Given the description of an element on the screen output the (x, y) to click on. 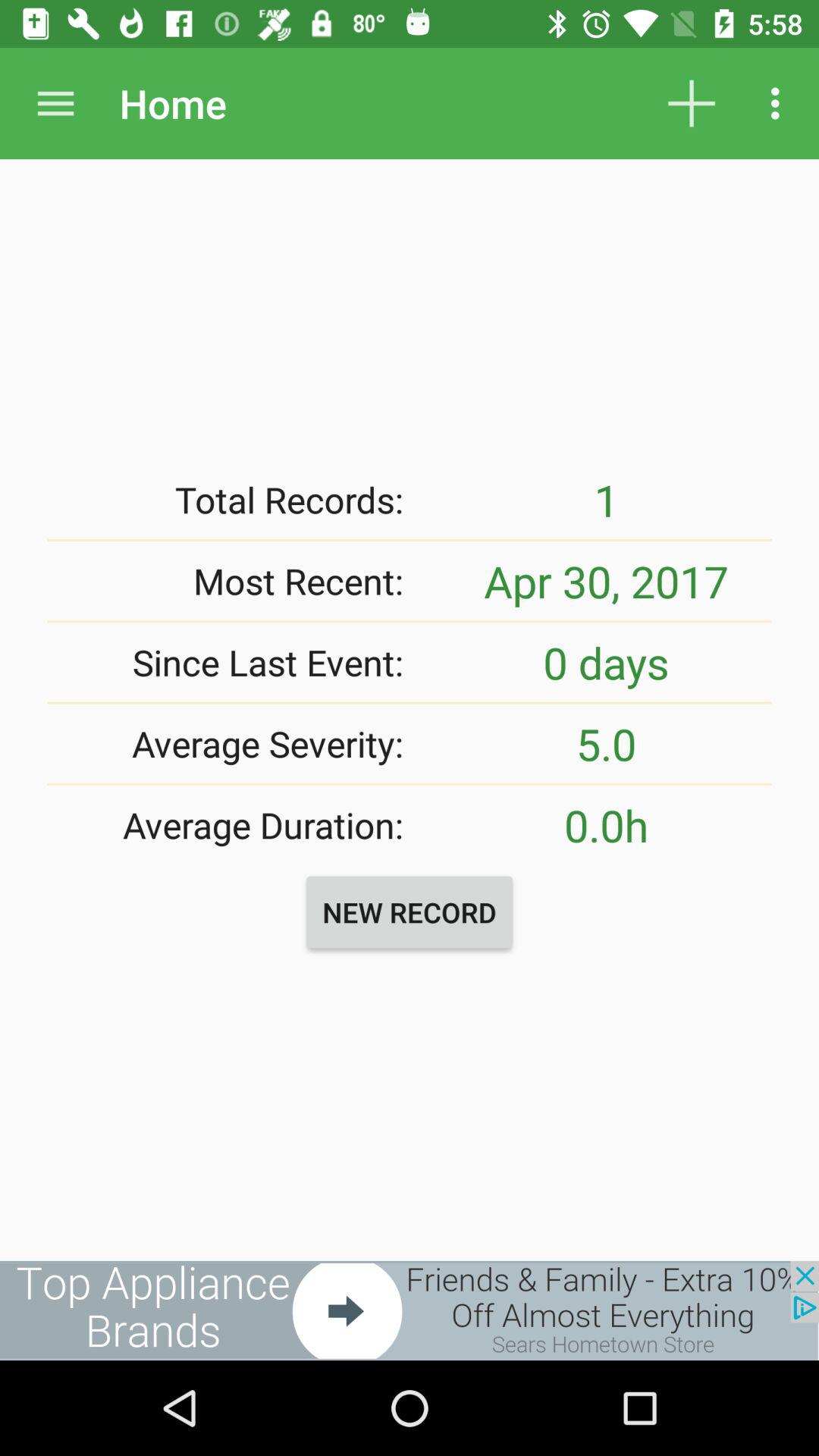
drops a menu (55, 103)
